Given the description of an element on the screen output the (x, y) to click on. 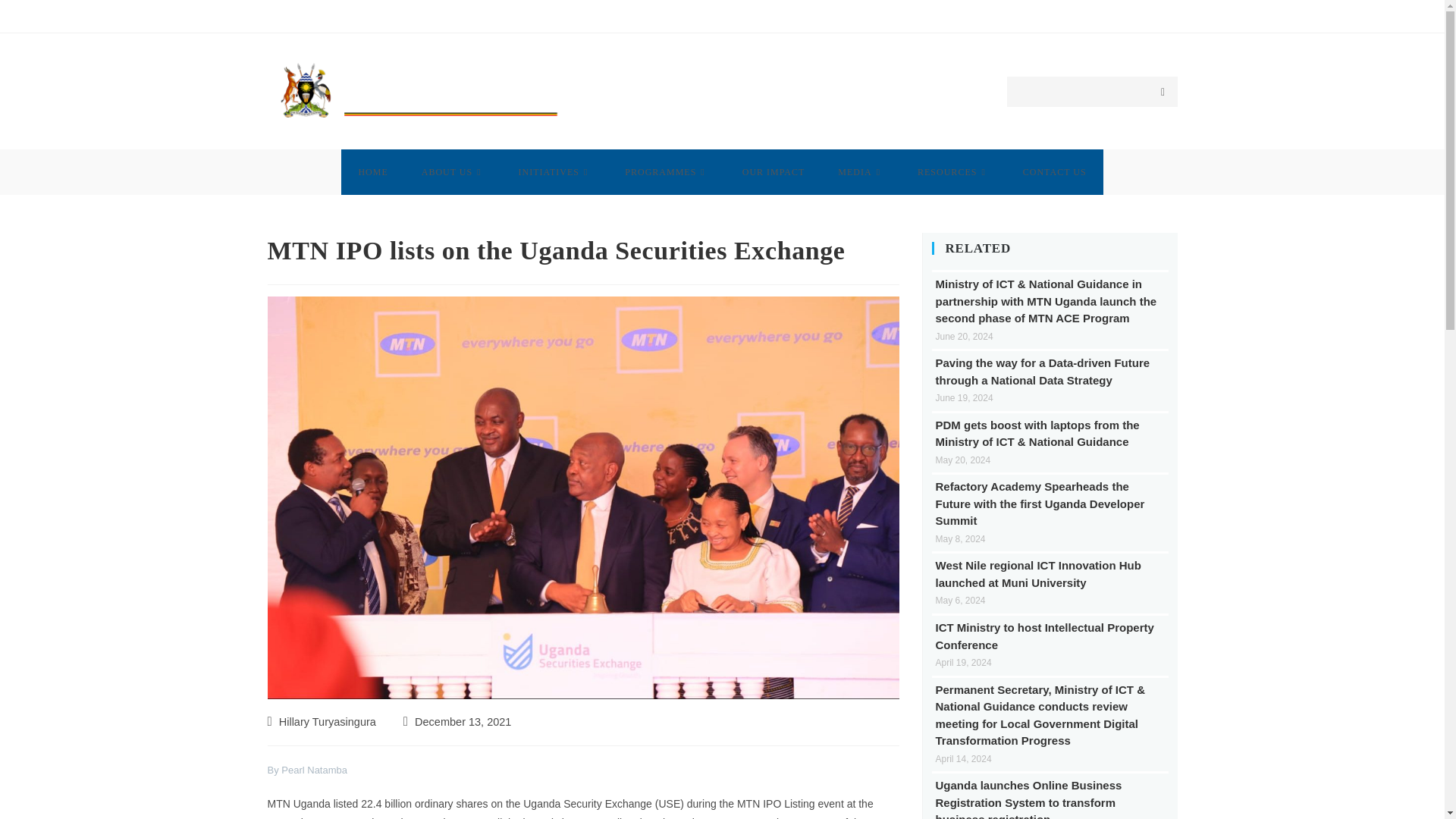
UCC (1050, 15)
NITA-U (1089, 15)
HOME (372, 171)
PROGRAMMES (666, 171)
Posts by Hillary Turyasingura (327, 721)
ABOUT US (453, 171)
INITIATIVES (555, 171)
STAFF-MAIL (1147, 15)
UBC (1017, 15)
